Given the description of an element on the screen output the (x, y) to click on. 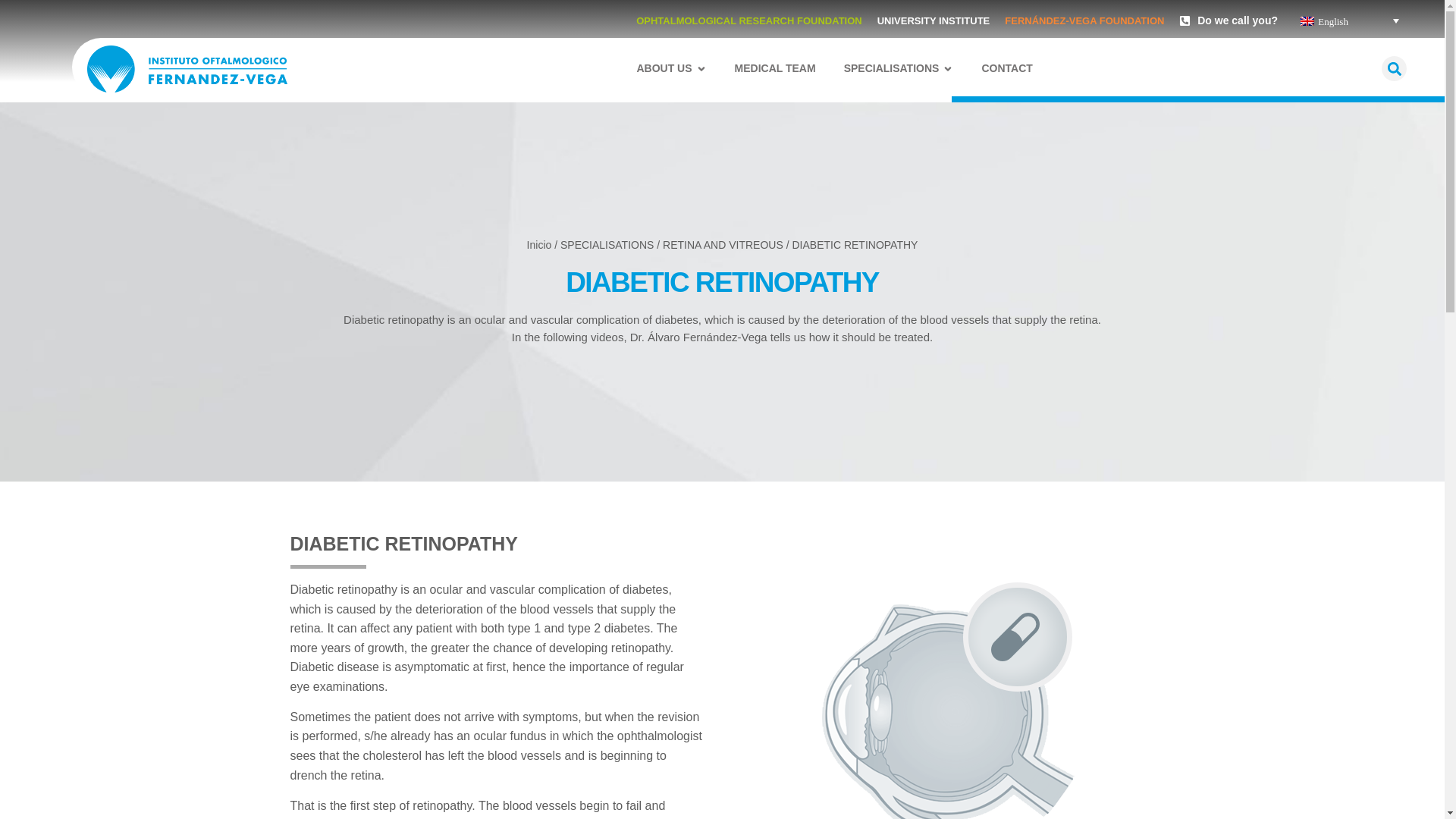
Do we call you? (1228, 20)
English (1349, 20)
OPHTALMOLOGICAL RESEARCH FOUNDATION (748, 20)
MEDICAL TEAM (775, 68)
CONTACT (1006, 68)
ABOUT US (663, 68)
UNIVERSITY INSTITUTE (933, 20)
SPECIALISATIONS (891, 68)
